Given the description of an element on the screen output the (x, y) to click on. 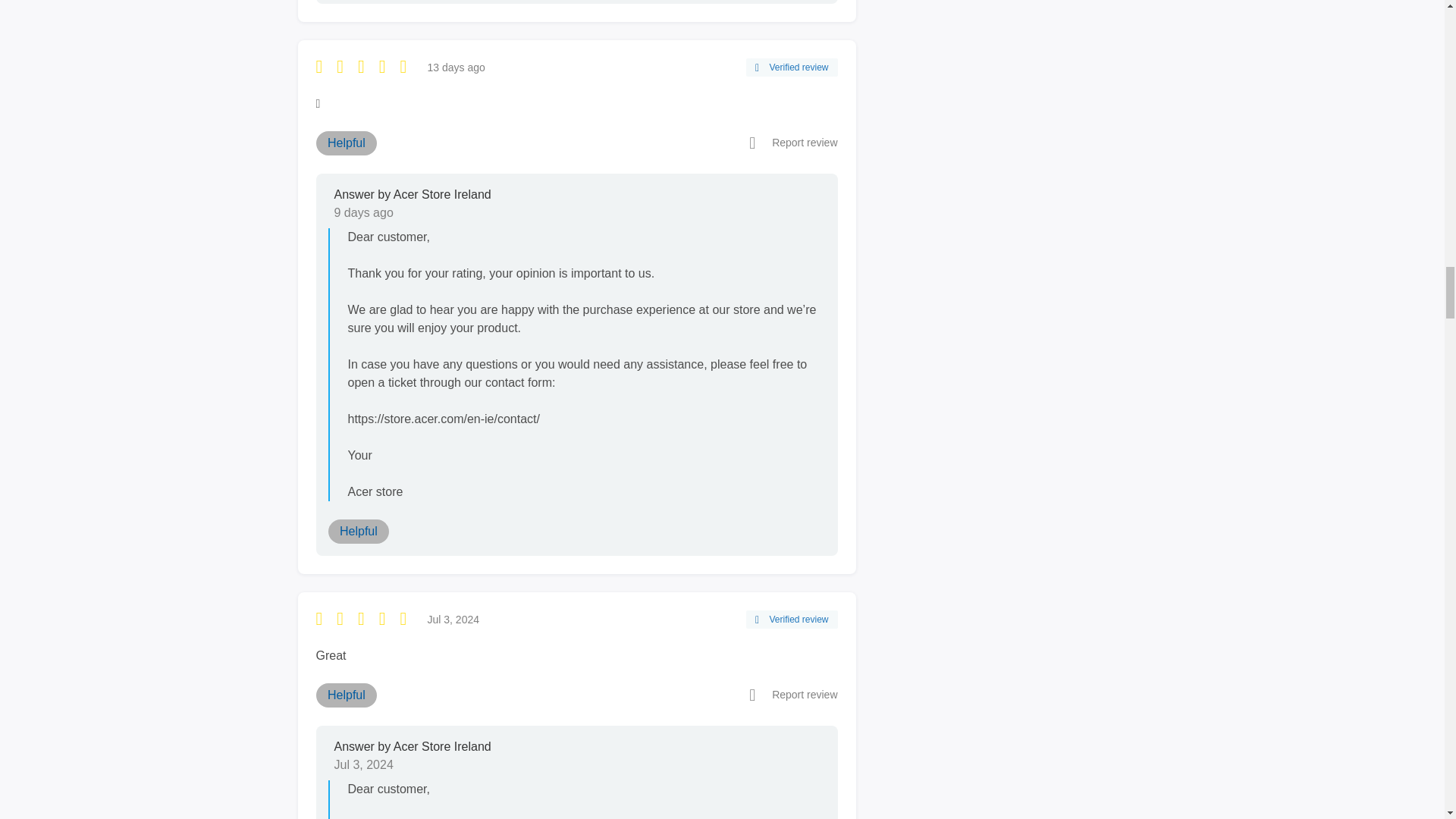
Helpful (346, 143)
